Given the description of an element on the screen output the (x, y) to click on. 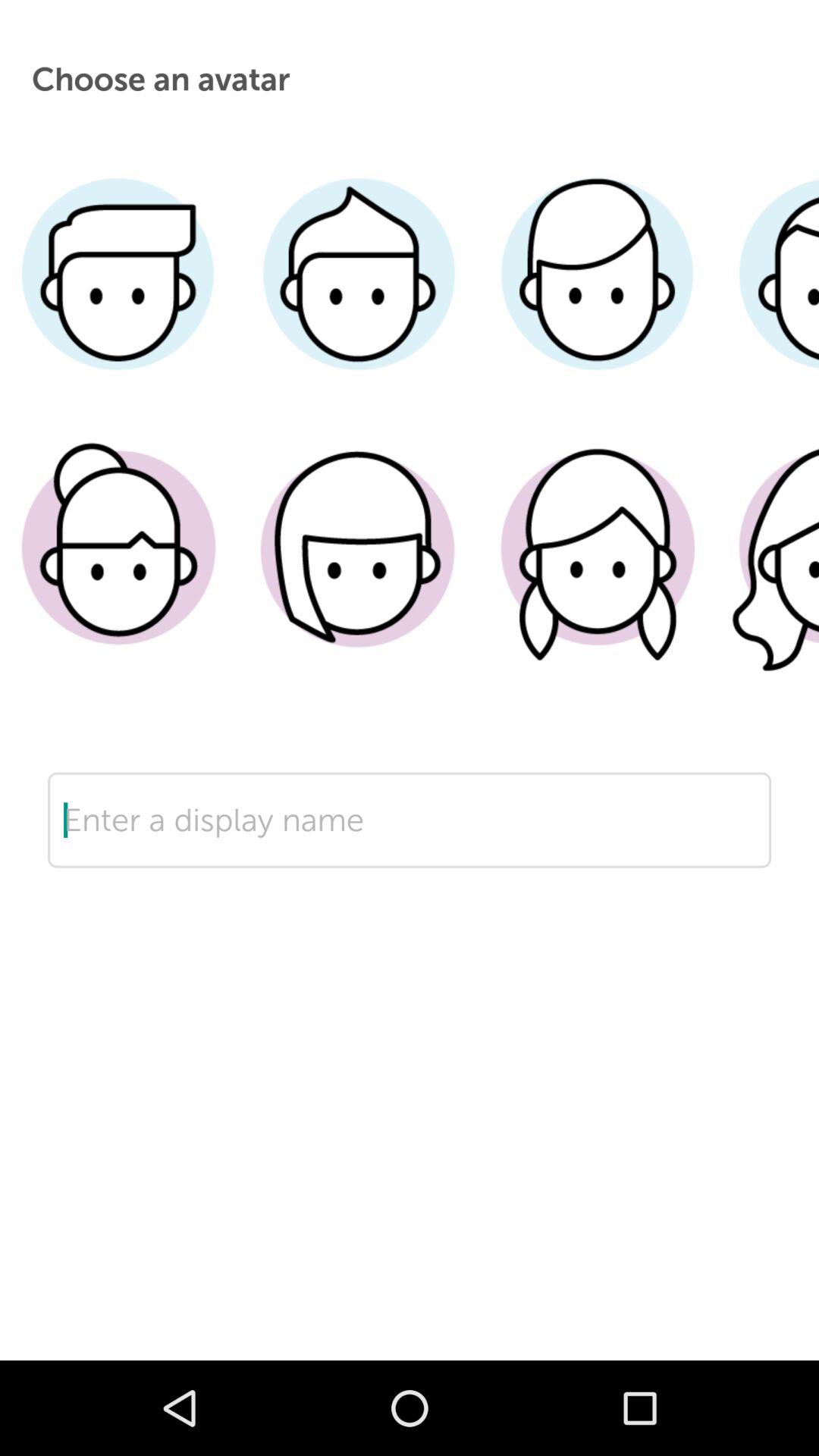
choose an avatar (596, 570)
